Given the description of an element on the screen output the (x, y) to click on. 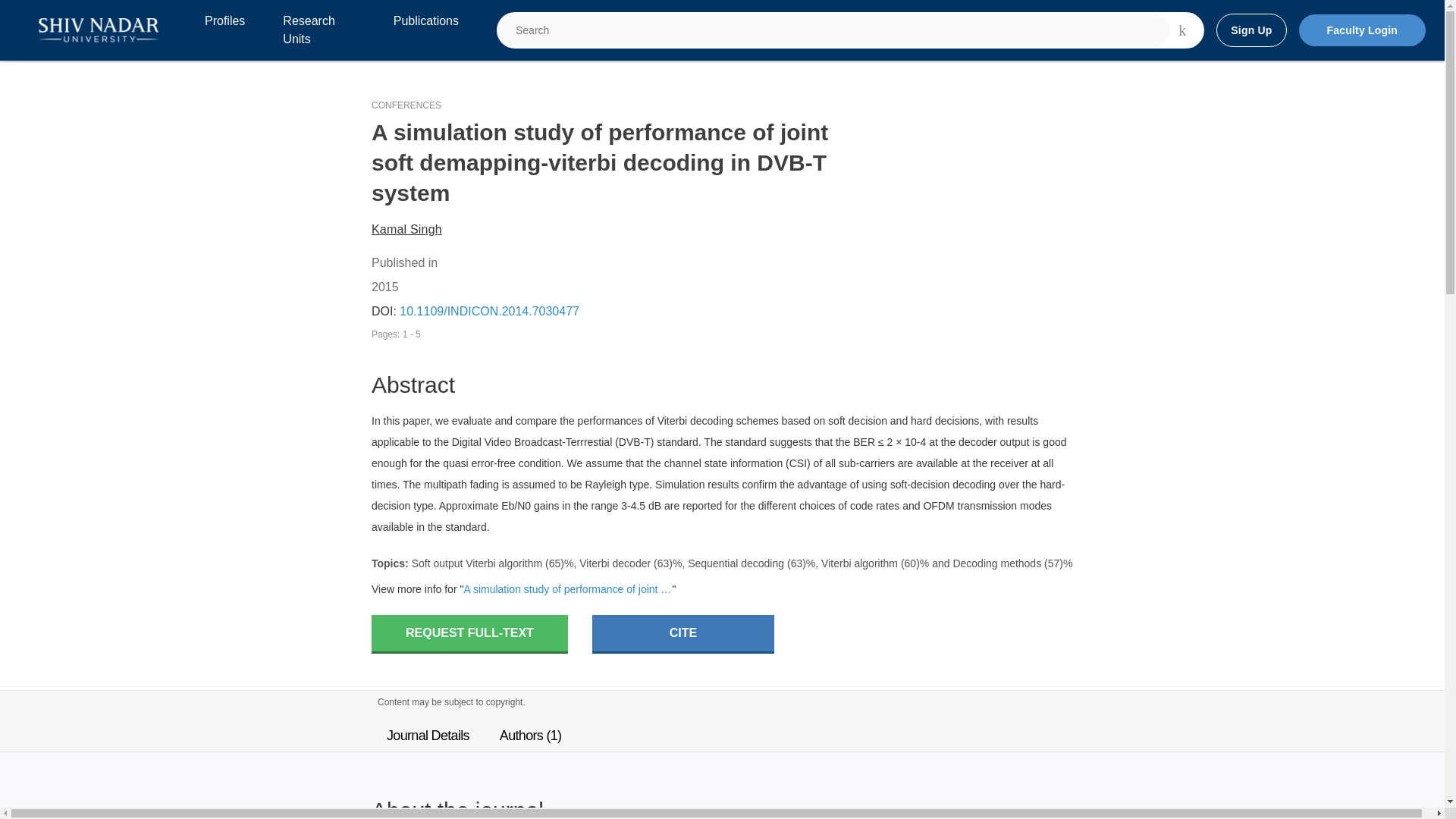
Sign Up (1250, 29)
Viterbi decoder (614, 563)
REQUEST FULL-TEXT (469, 634)
Sequential decoding (735, 563)
Journal Details (427, 735)
Institution logo (98, 30)
Publications (425, 30)
Profiles (224, 30)
CITE (683, 634)
